Given the description of an element on the screen output the (x, y) to click on. 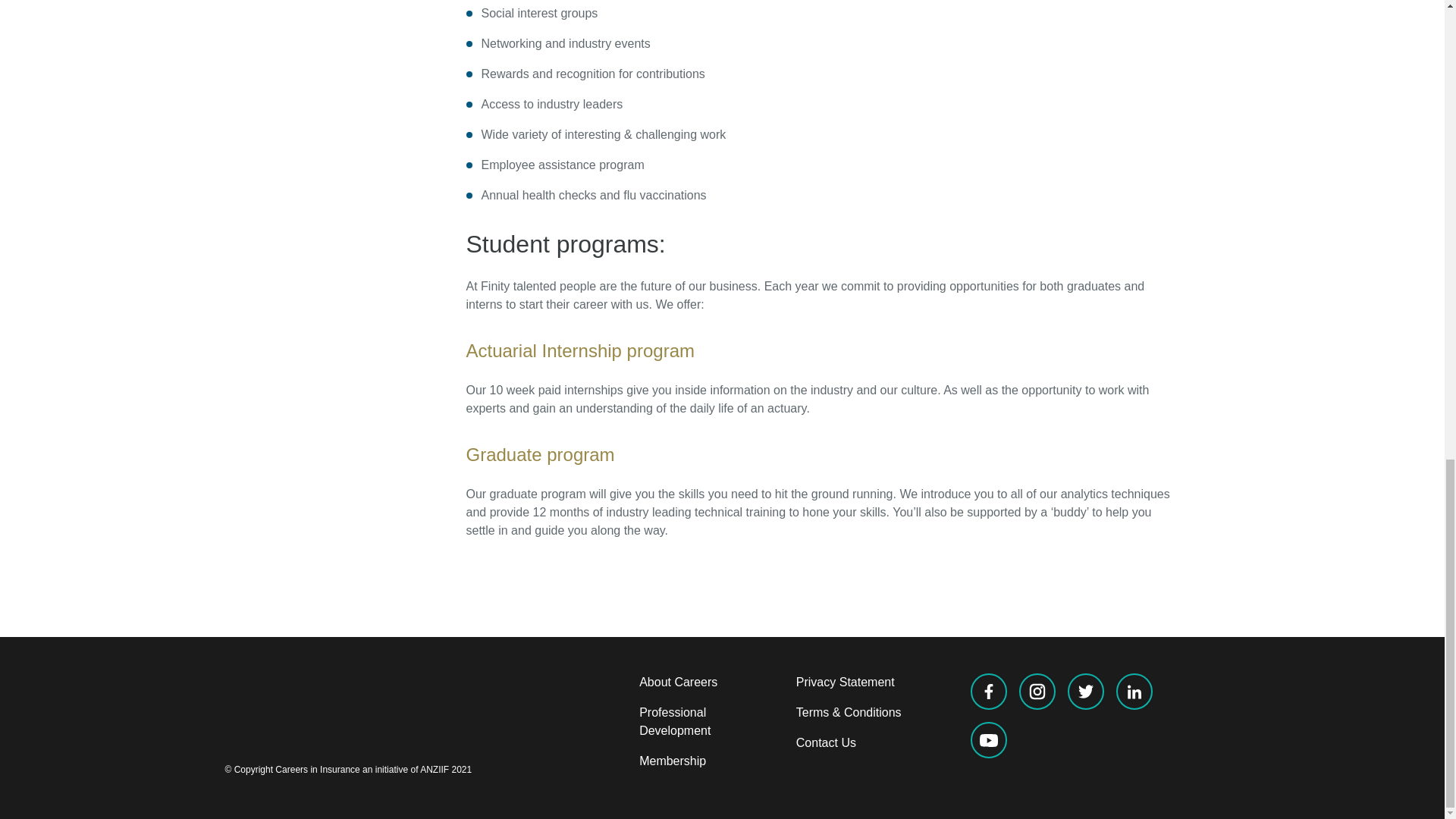
YouTube (989, 739)
LinkedIn (1134, 691)
Facebook (989, 691)
Membership (672, 760)
Twitter (1085, 691)
Privacy Statement (845, 681)
Professional Development (674, 721)
About Careers (678, 681)
Instagram (1037, 691)
Contact Us (826, 742)
